Given the description of an element on the screen output the (x, y) to click on. 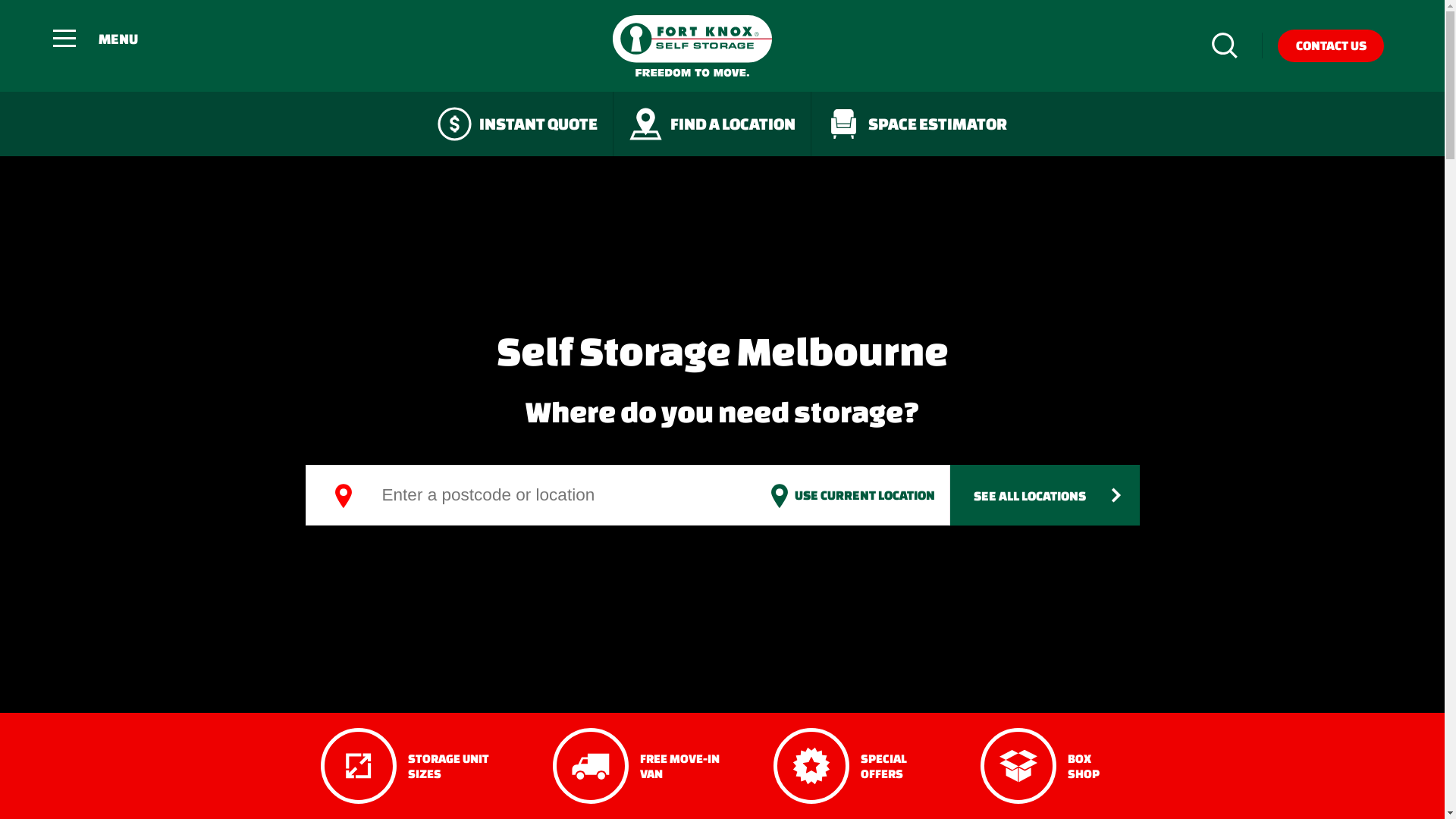
FIND A LOCATION Element type: text (712, 123)
SEE ALL LOCATIONS Element type: text (1044, 494)
FREE MOVE-IN VAN Element type: text (647, 765)
SPECIAL OFFERS Element type: text (861, 765)
SPACE ESTIMATOR Element type: text (916, 123)
INSTANT QUOTE Element type: text (517, 123)
CONTACT US Element type: text (1330, 45)
STORAGE UNIT SIZES Element type: text (421, 765)
BOX SHOP Element type: text (1051, 765)
